Given the description of an element on the screen output the (x, y) to click on. 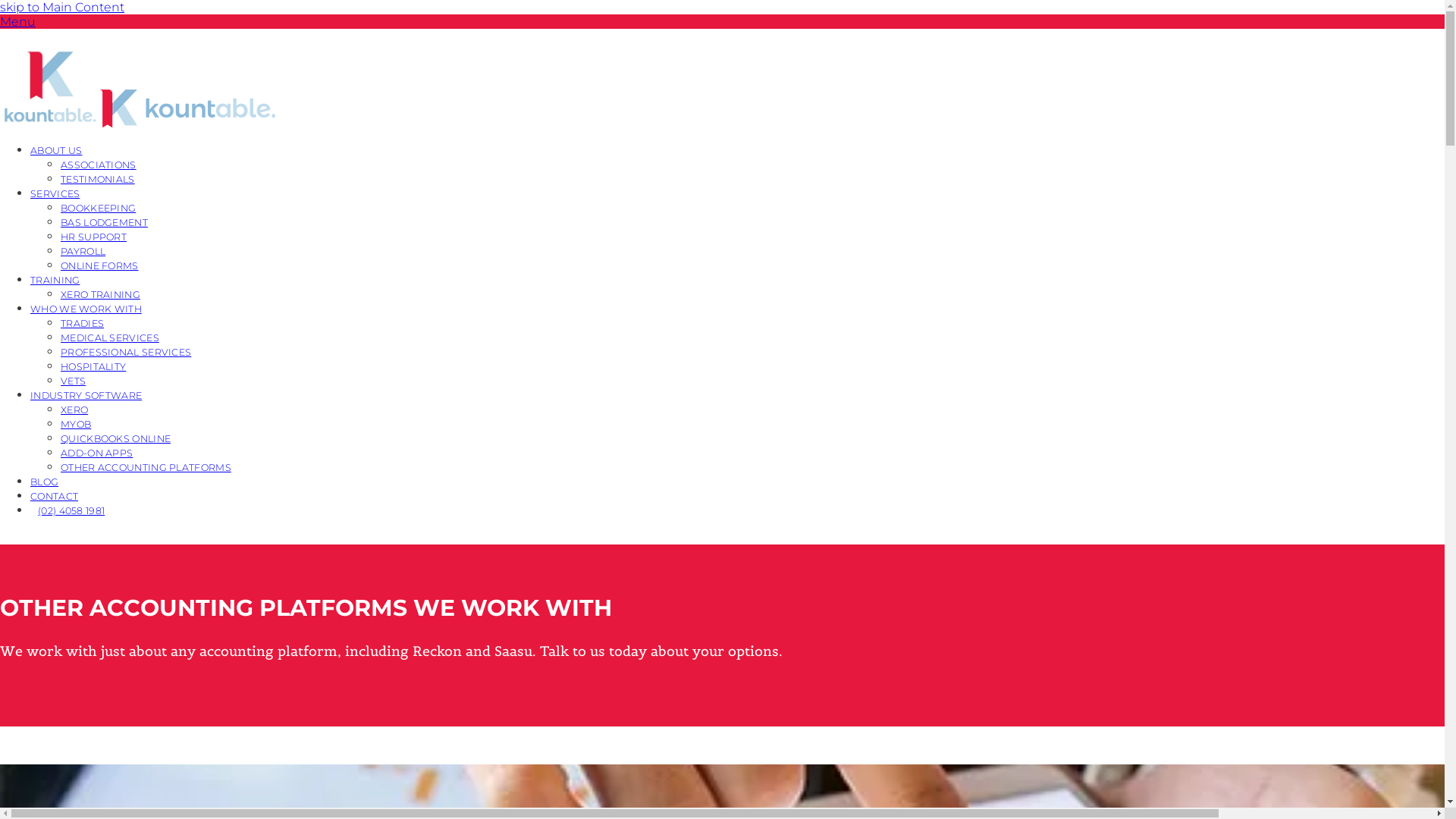
MEDICAL SERVICES Element type: text (109, 336)
PROFESSIONAL SERVICES Element type: text (125, 351)
OTHER ACCOUNTING PLATFORMS Element type: text (145, 466)
VETS Element type: text (72, 380)
SERVICES Element type: text (54, 192)
ADD-ON APPS Element type: text (96, 452)
HOSPITALITY Element type: text (92, 365)
skip to Main Content Element type: text (62, 7)
HR SUPPORT Element type: text (93, 236)
ABOUT US Element type: text (55, 149)
TESTIMONIALS Element type: text (97, 178)
QUICKBOOKS ONLINE Element type: text (115, 437)
TRAINING Element type: text (54, 279)
MYOB Element type: text (75, 423)
BLOG Element type: text (44, 480)
Menu Element type: text (17, 21)
XERO Element type: text (73, 408)
INDUSTRY SOFTWARE Element type: text (85, 394)
ASSOCIATIONS Element type: text (98, 163)
BOOKKEEPING Element type: text (97, 207)
WHO WE WORK WITH Element type: text (85, 308)
(02) 4058 1981 Element type: text (71, 509)
BAS LODGEMENT Element type: text (103, 221)
ONLINE FORMS Element type: text (99, 264)
XERO TRAINING Element type: text (100, 293)
CONTACT Element type: text (54, 495)
PAYROLL Element type: text (82, 250)
TRADIES Element type: text (81, 322)
